Given the description of an element on the screen output the (x, y) to click on. 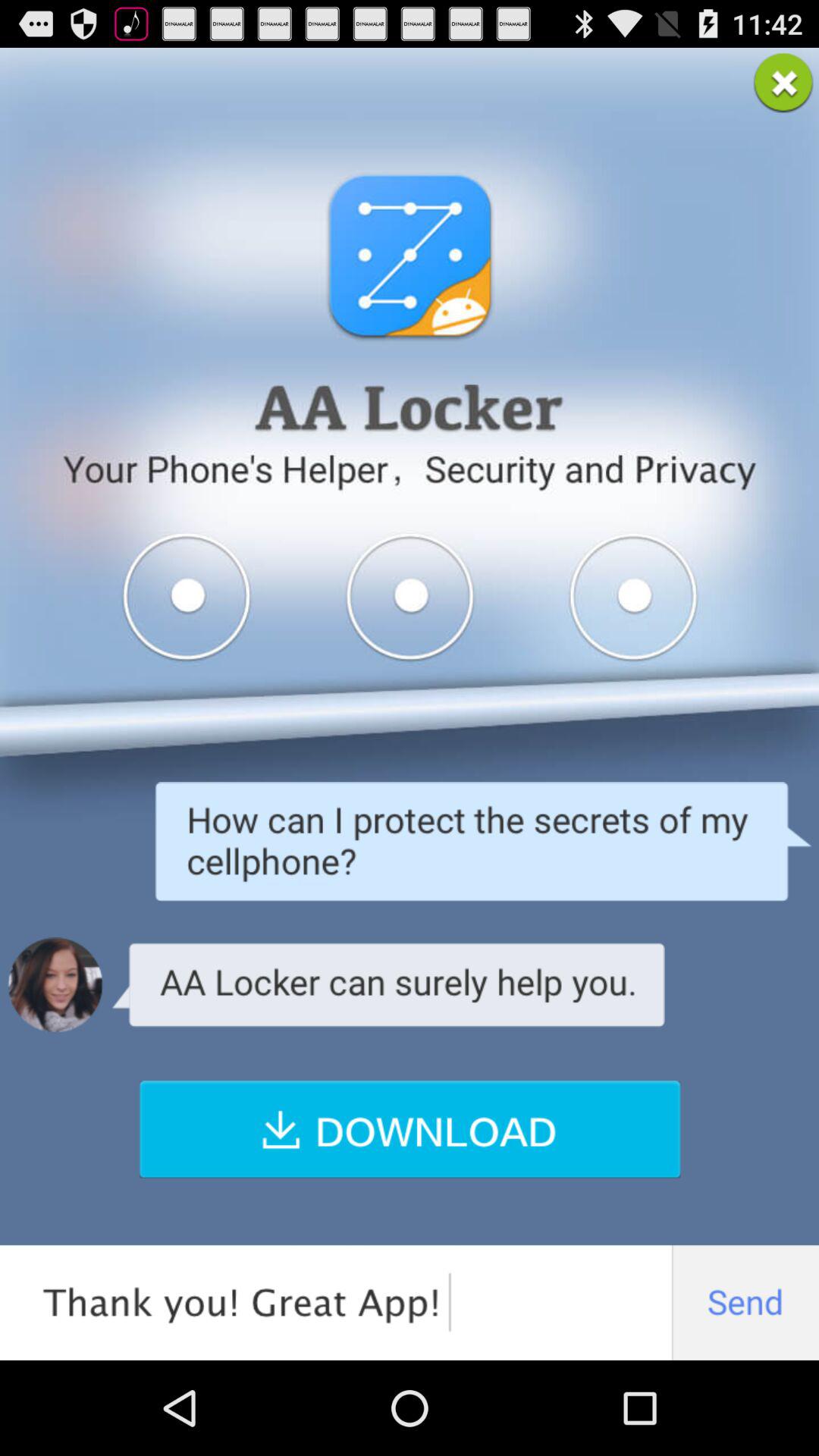
close this tab (783, 83)
